Given the description of an element on the screen output the (x, y) to click on. 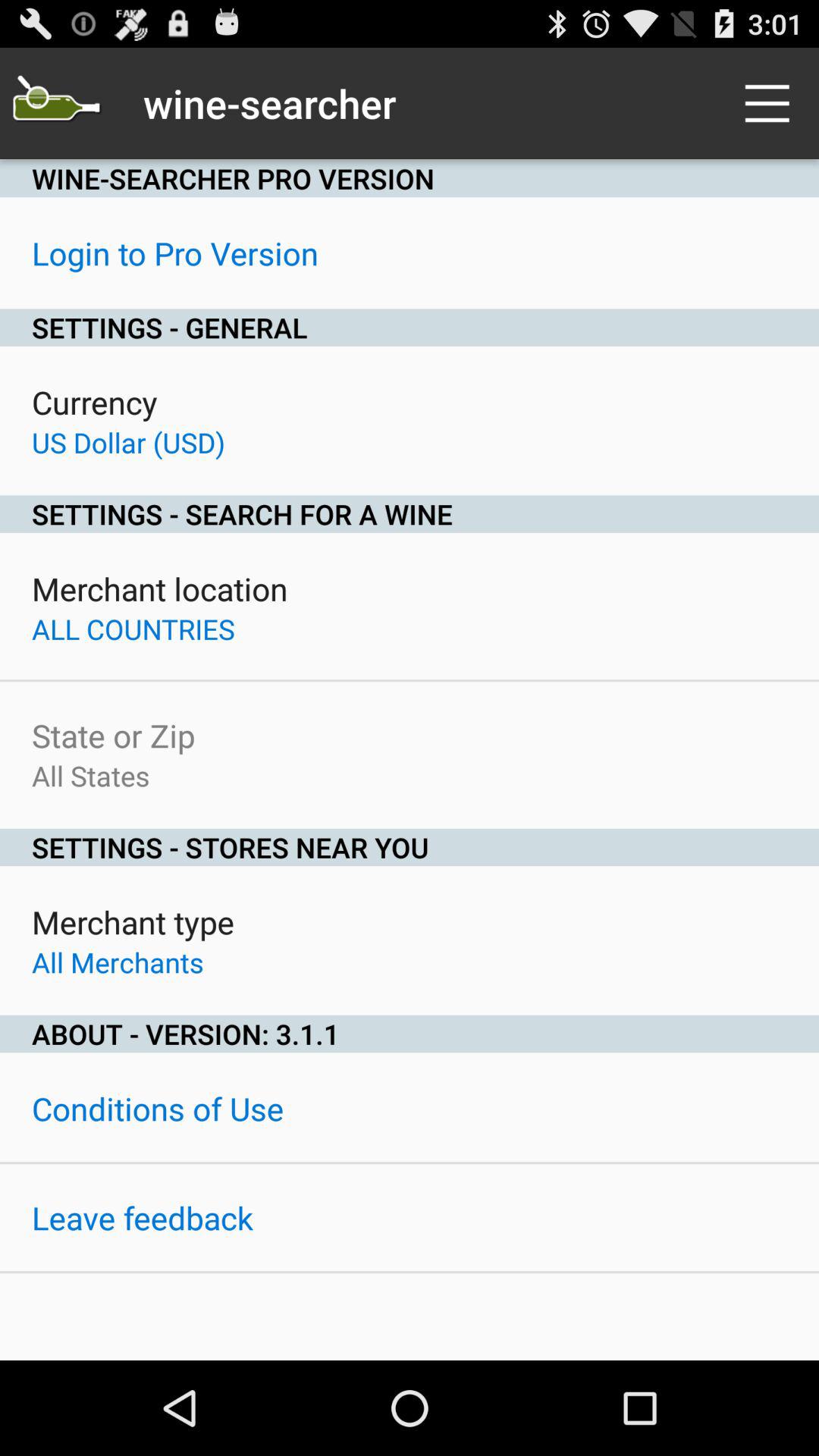
flip to the currency item (94, 401)
